Given the description of an element on the screen output the (x, y) to click on. 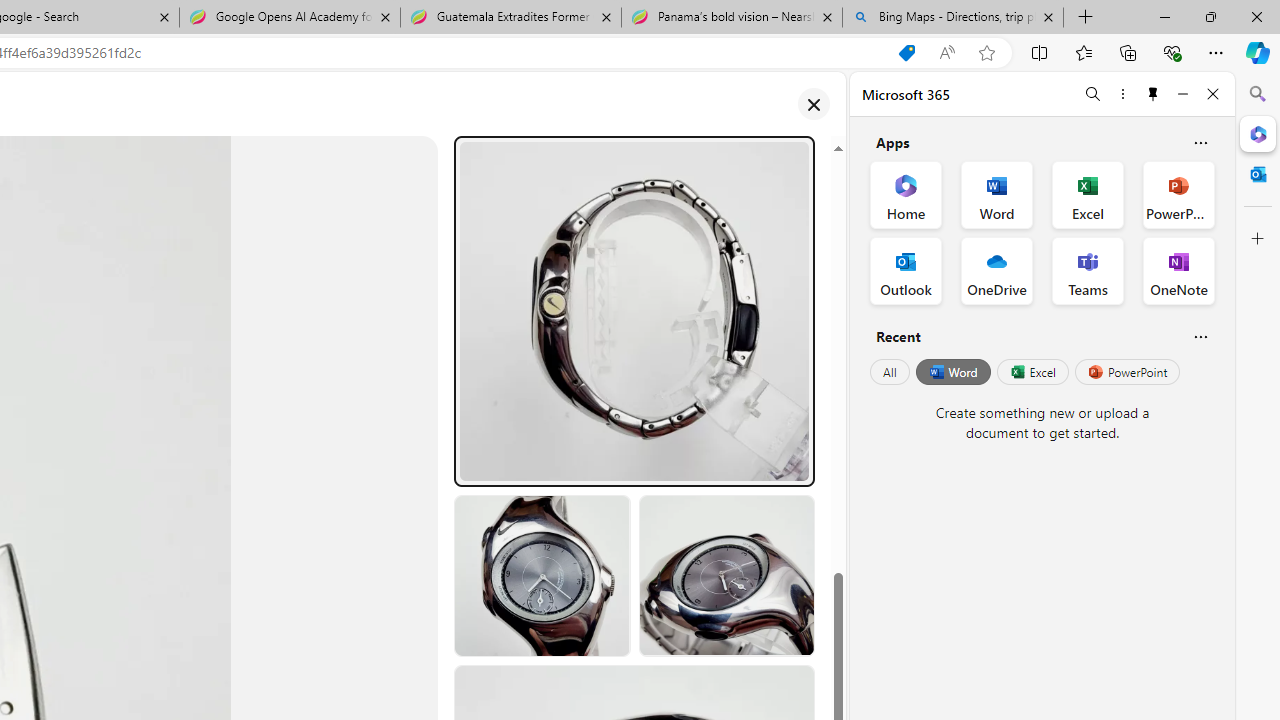
Home Office App (906, 194)
Outlook Office App (906, 270)
OneNote Office App (1178, 270)
Word Office App (996, 194)
Google Opens AI Academy for Startups - Nearshore Americas (290, 17)
PowerPoint (1127, 372)
Excel (1031, 372)
